Given the description of an element on the screen output the (x, y) to click on. 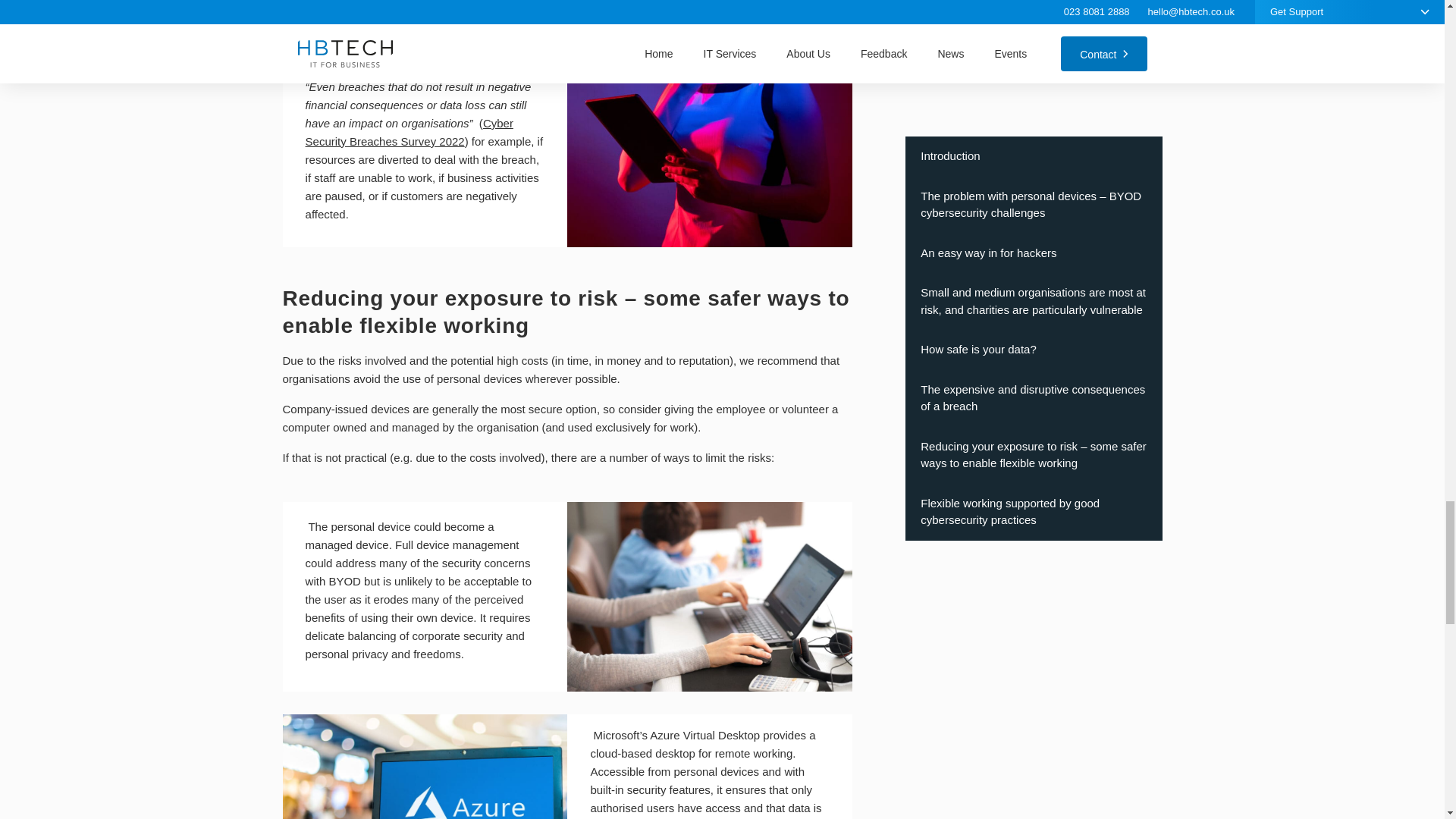
Cyber Security Breaches Survey 2022 (409, 132)
Cyber Security Breaches Survey 2022 (422, 47)
